Given the description of an element on the screen output the (x, y) to click on. 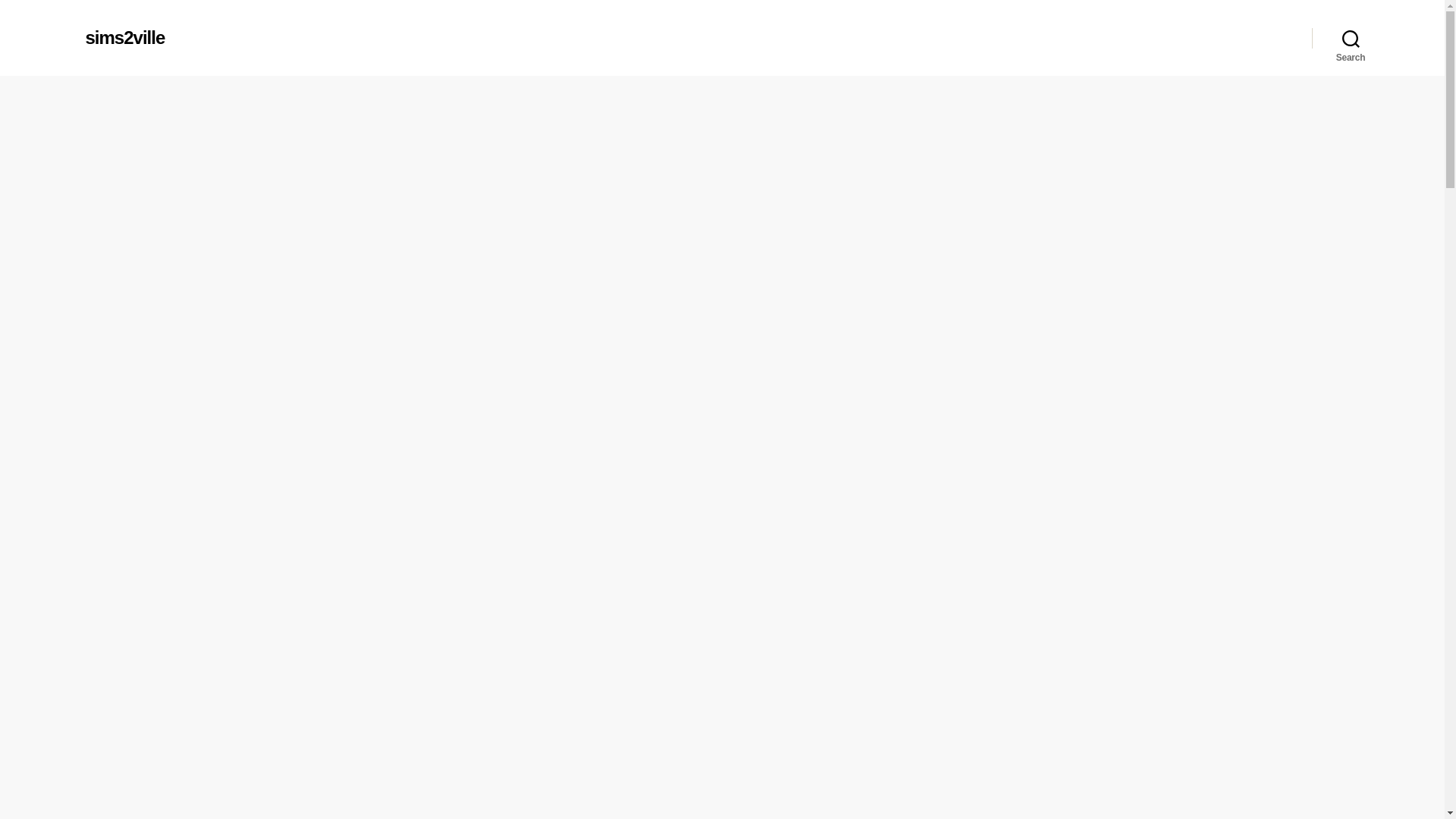
GAMBLING (721, 143)
Search (1350, 37)
November 29, 2023 (783, 350)
sims2ville (124, 37)
adminss (666, 350)
